Given the description of an element on the screen output the (x, y) to click on. 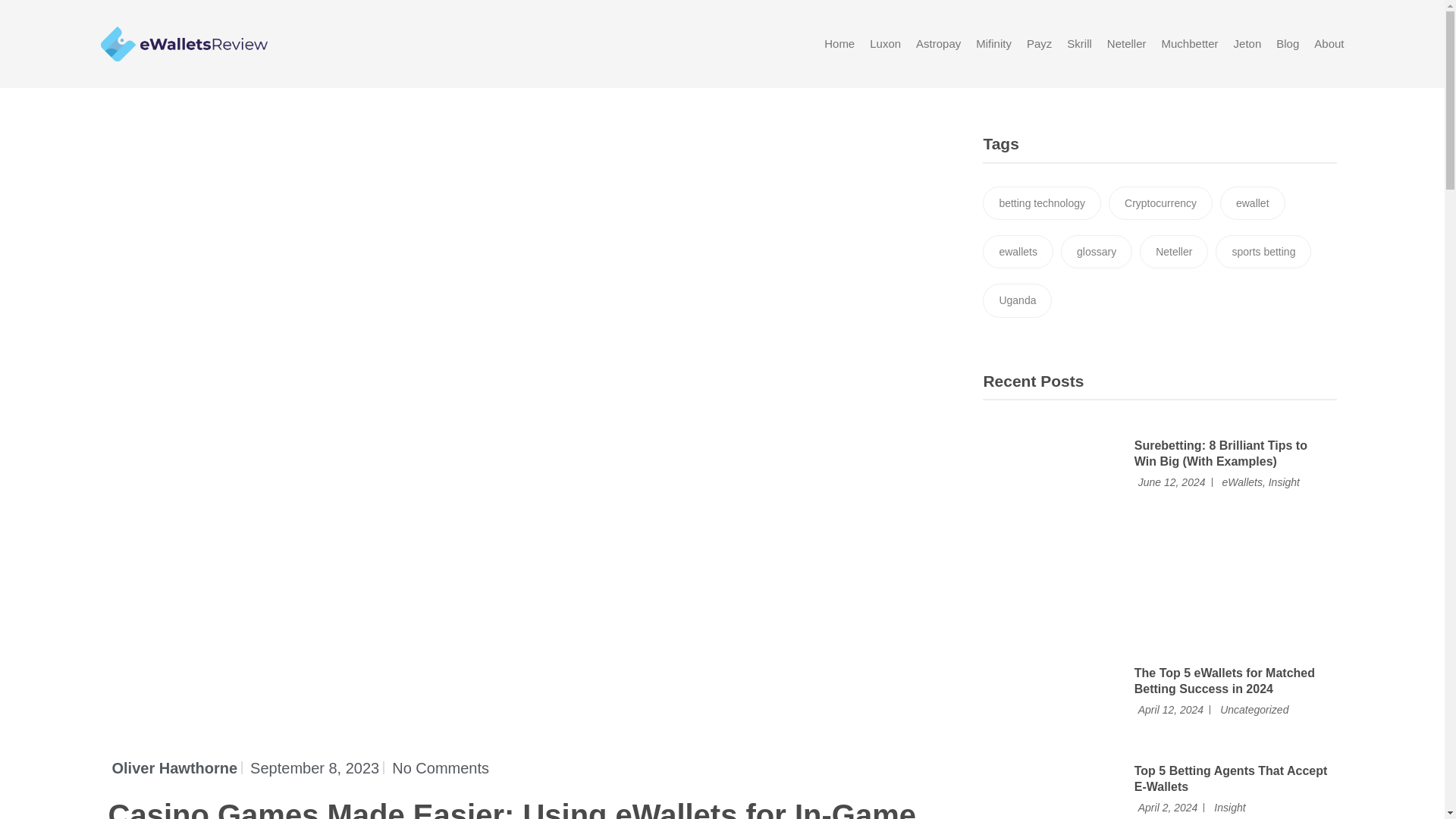
Neteller (1126, 43)
Mifinity (993, 43)
Home (839, 43)
Muchbetter (1189, 43)
Luxon (885, 43)
Astropay (937, 43)
